Given the description of an element on the screen output the (x, y) to click on. 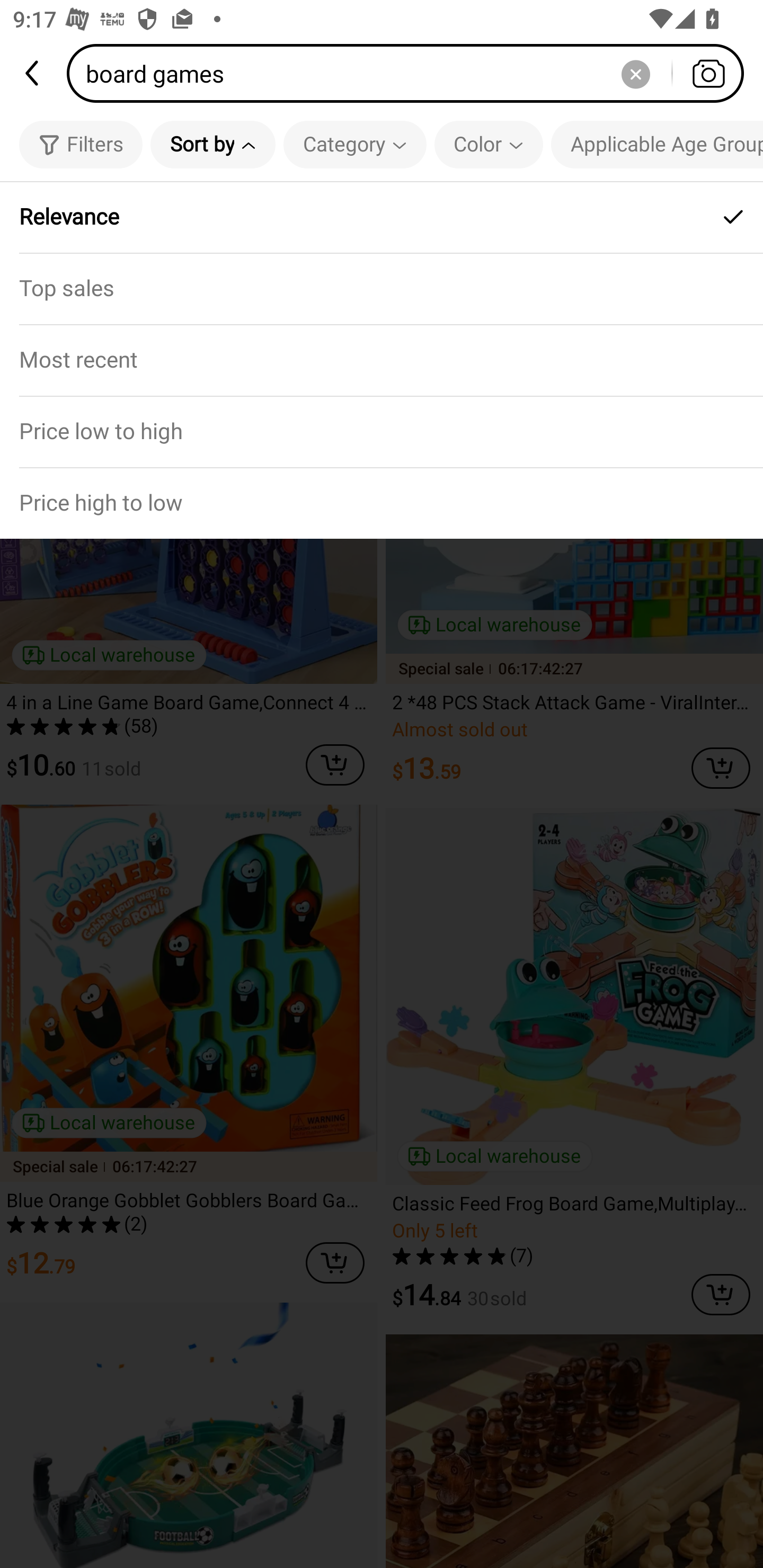
back (33, 72)
board games (411, 73)
Delete search history (635, 73)
Search by photo (708, 73)
Filters (80, 143)
Sort by (212, 143)
Category (354, 143)
Color (488, 143)
Applicable Age Group (656, 143)
Relevance (381, 216)
Top sales (381, 288)
Most recent (381, 359)
Price low to high (381, 431)
Price high to low (381, 503)
